Given the description of an element on the screen output the (x, y) to click on. 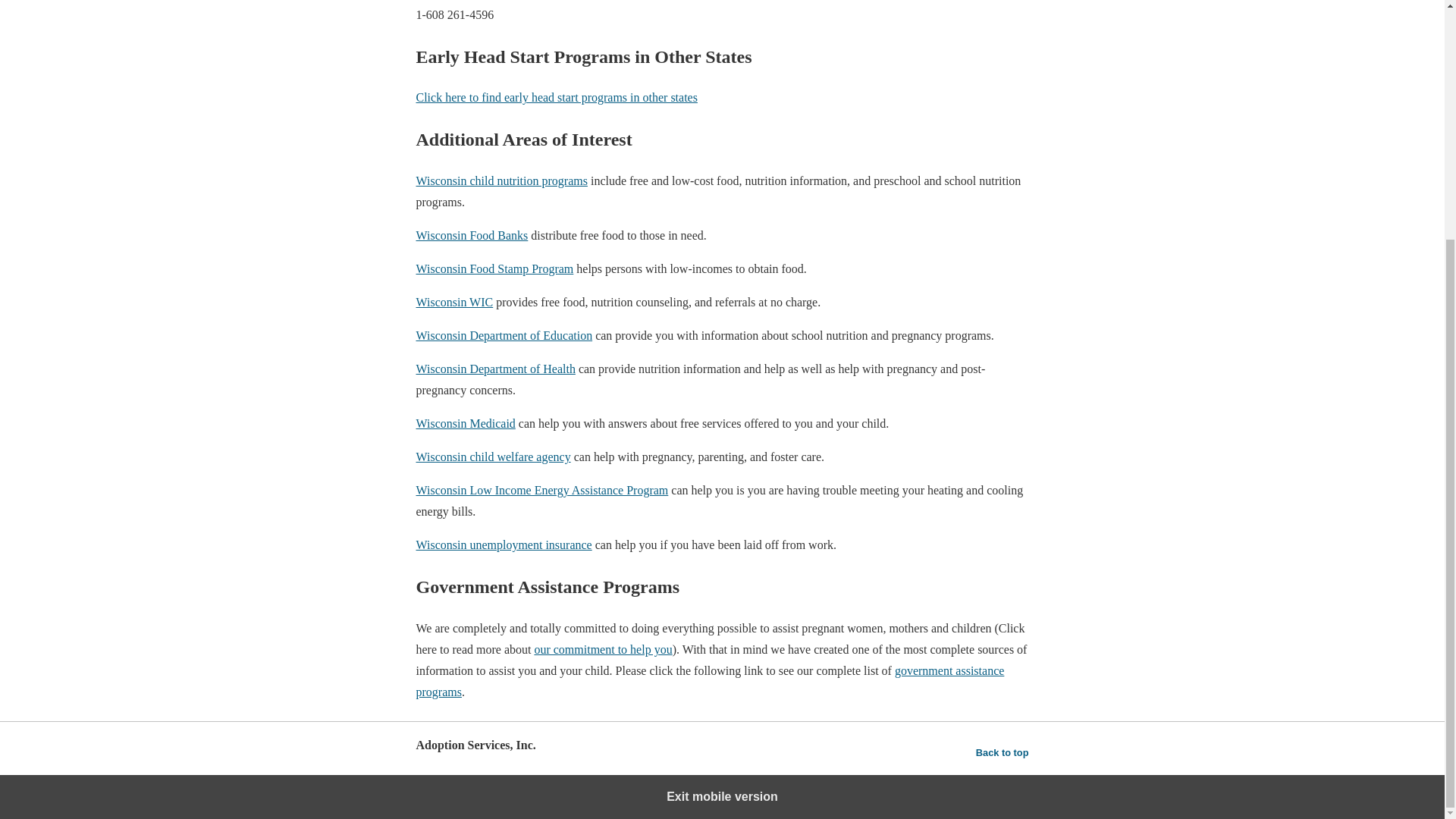
Wisconsin child welfare agency (492, 456)
Wisconsin Medicaid (464, 422)
Wisconsin Low Income Energy Assistance Program (541, 490)
Click here to find early head start programs in other states (555, 97)
Back to top (1002, 752)
Wisconsin child nutrition programs (500, 180)
Wisconsin unemployment insurance (502, 544)
government assistance programs (709, 681)
Wisconsin Food Stamp Program (493, 268)
our commitment to help you (602, 649)
